Given the description of an element on the screen output the (x, y) to click on. 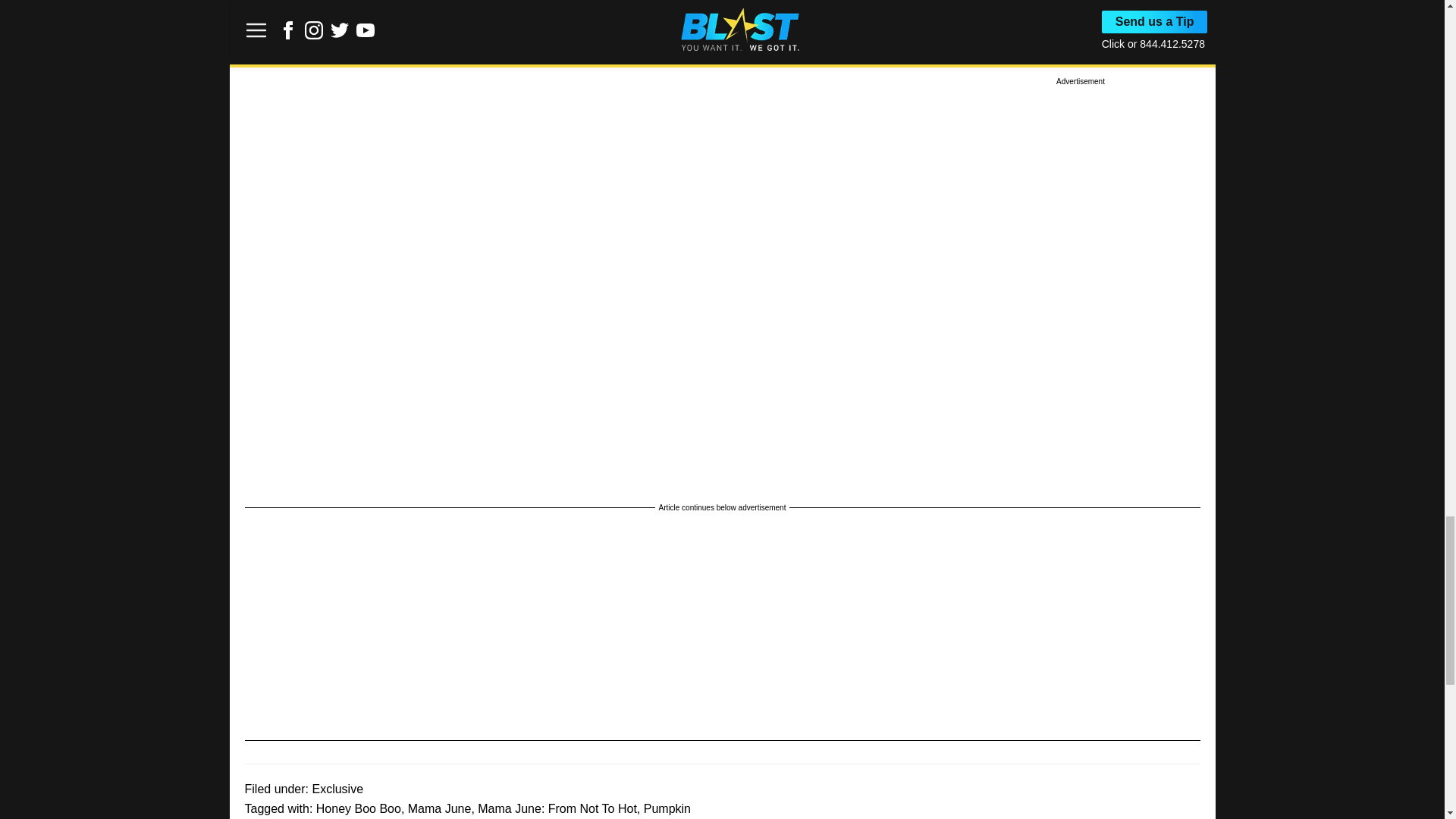
Honey Boo Boo (358, 808)
Mama June (439, 808)
Pumpkin (666, 808)
Mama June: From Not To Hot (557, 808)
Exclusive (336, 788)
